Given the description of an element on the screen output the (x, y) to click on. 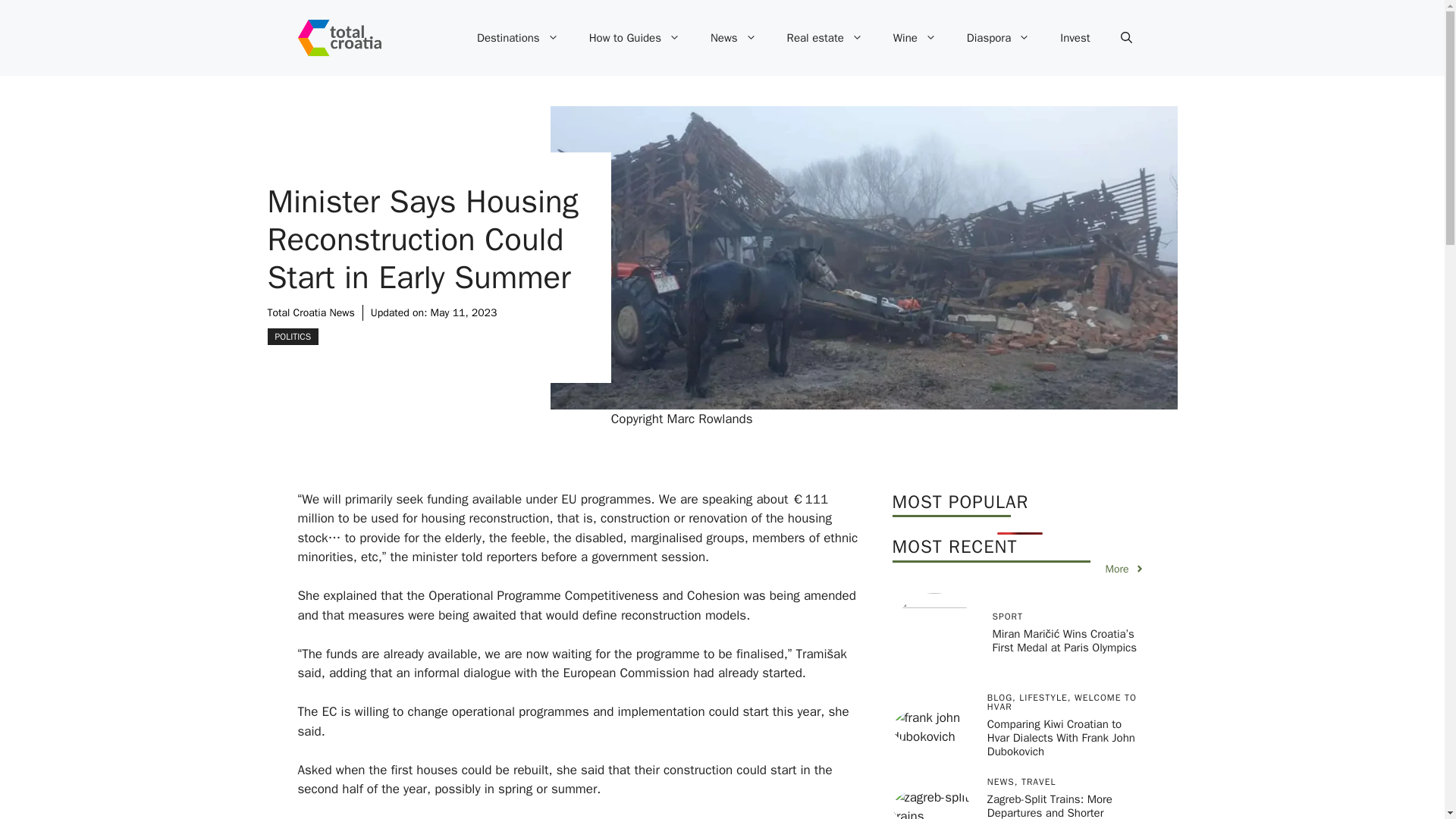
Destinations (517, 37)
Wine (914, 37)
Invest (1075, 37)
Diaspora (998, 37)
How to Guides (634, 37)
News (733, 37)
Real estate (824, 37)
